Given the description of an element on the screen output the (x, y) to click on. 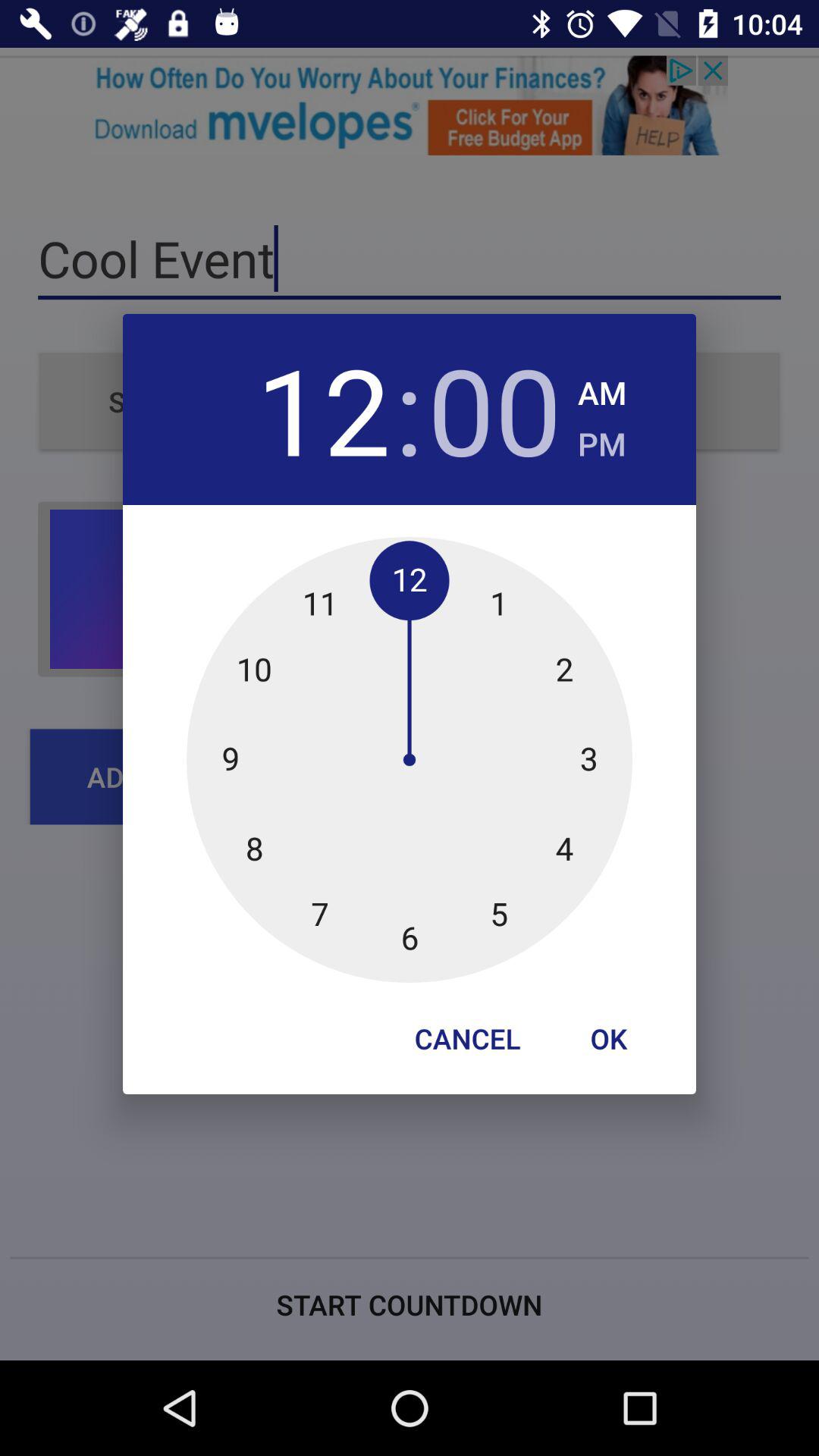
press the button at the bottom (467, 1038)
